Given the description of an element on the screen output the (x, y) to click on. 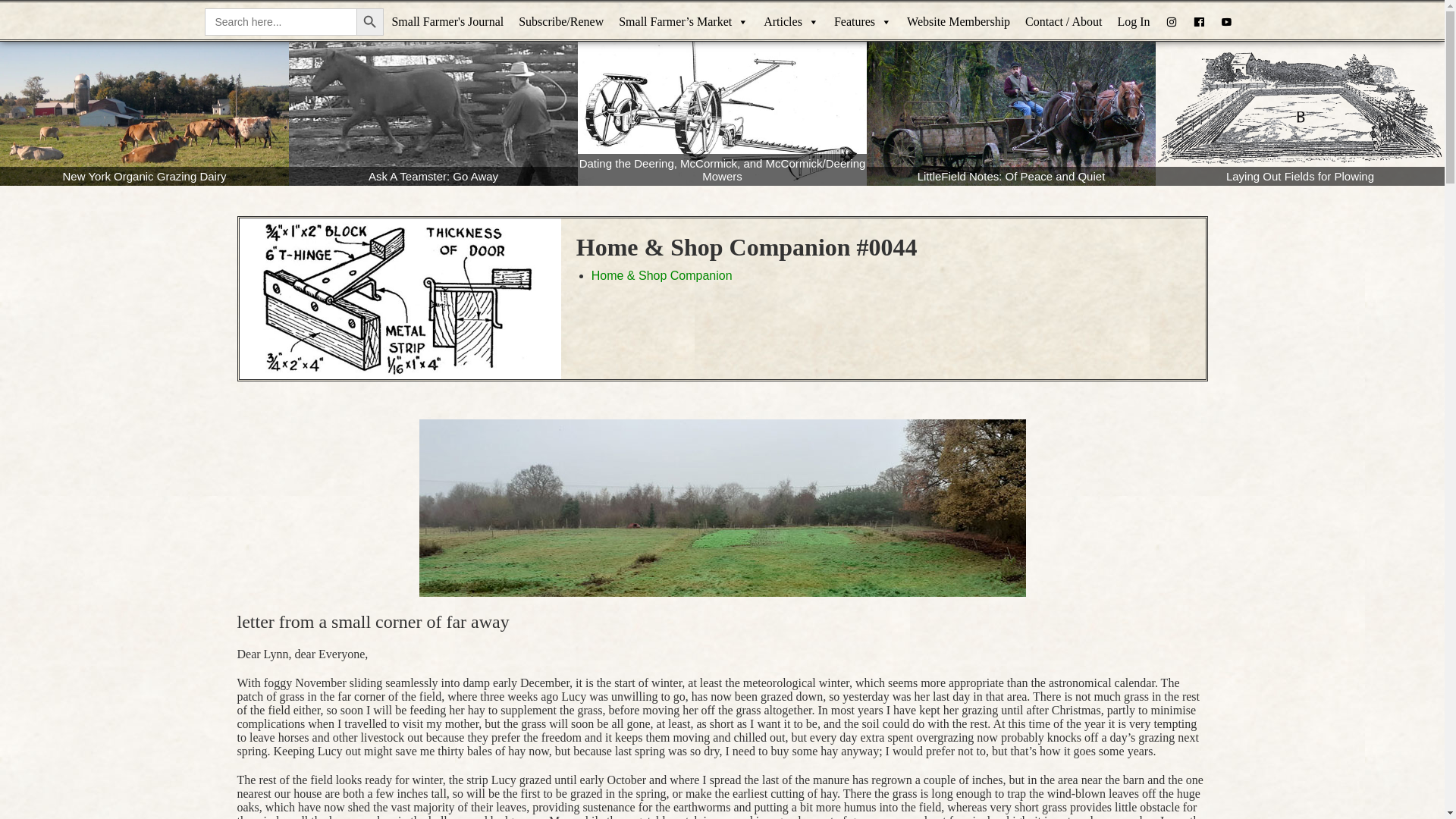
Small Farmer's Journal (447, 21)
Log In (1133, 21)
New York Organic Grazing Dairy (144, 112)
Features (863, 21)
Search Button (370, 22)
Website Membership (958, 21)
Articles (791, 21)
